Given the description of an element on the screen output the (x, y) to click on. 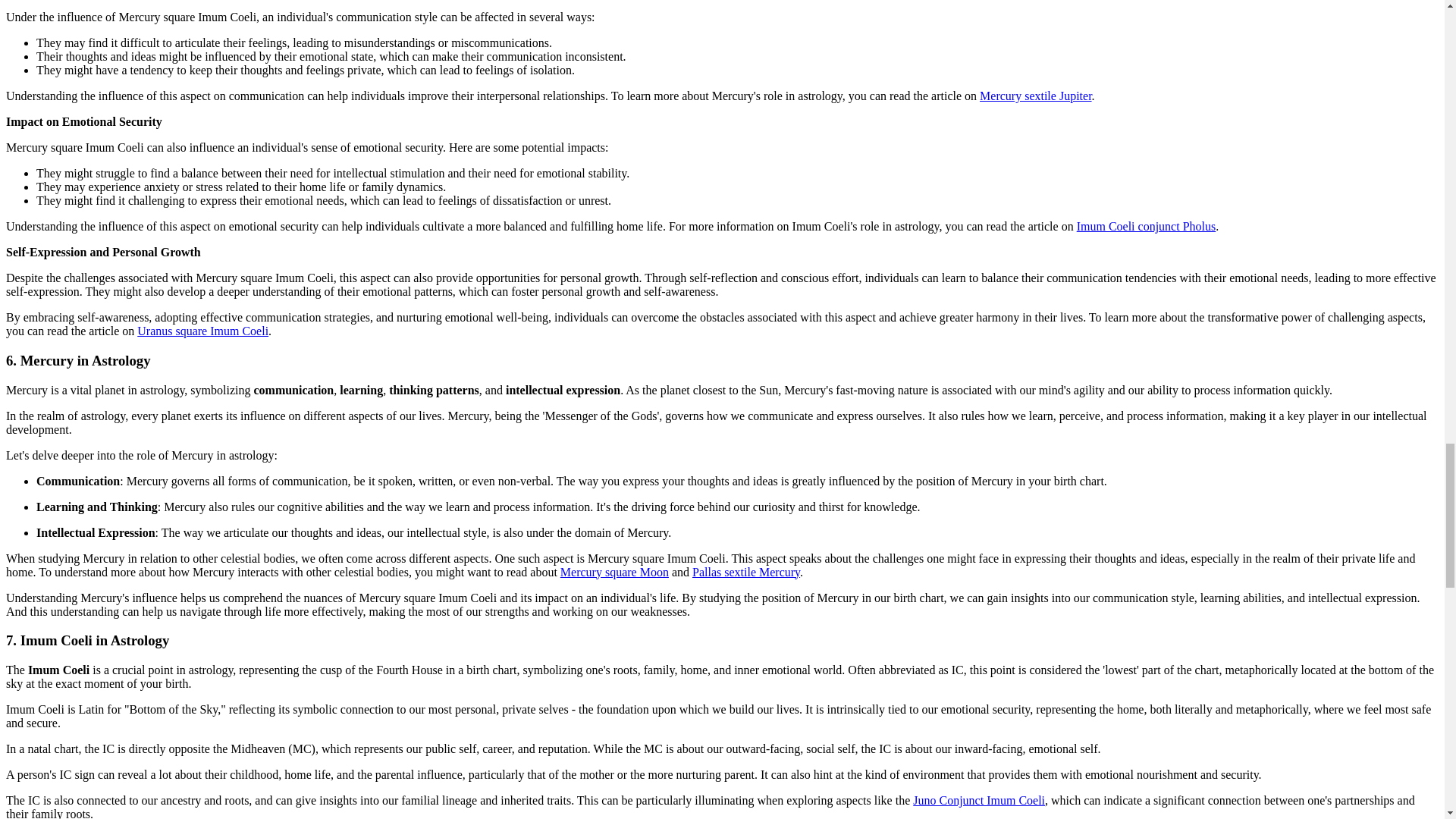
Mercury square Moon (614, 571)
Uranus square Imum Coeli (201, 330)
Mercury sextile Jupiter (1035, 95)
Pallas sextile Mercury (746, 571)
Imum Coeli conjunct Pholus (1146, 226)
